Given the description of an element on the screen output the (x, y) to click on. 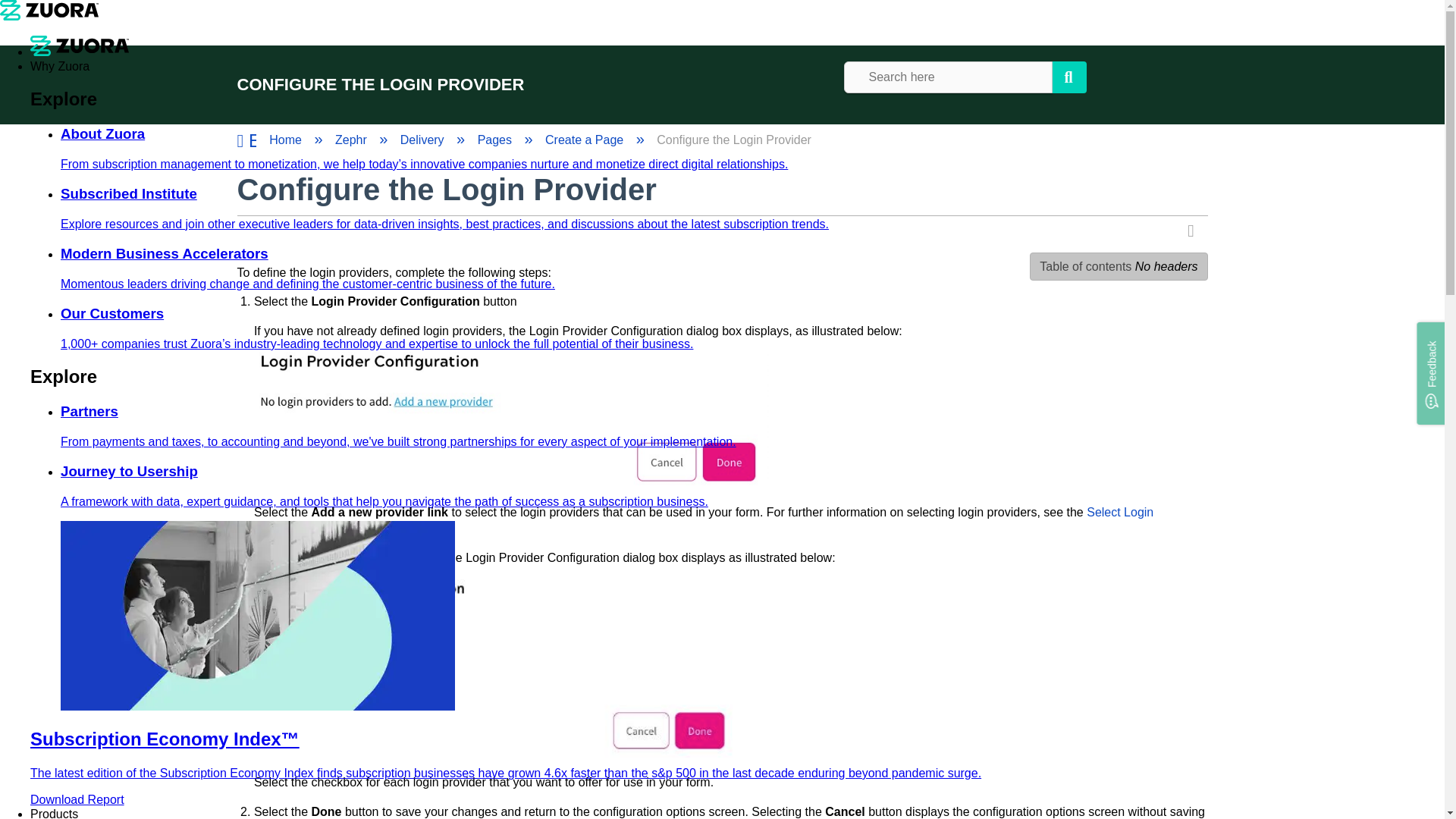
Select Login Providers (703, 520)
Pages (496, 139)
Home (286, 139)
Delivery (423, 139)
Select Login Providers (703, 520)
Zephr (351, 139)
Create a Page (585, 139)
Export page as a PDF (1196, 231)
Save as PDF (1196, 231)
